Given the description of an element on the screen output the (x, y) to click on. 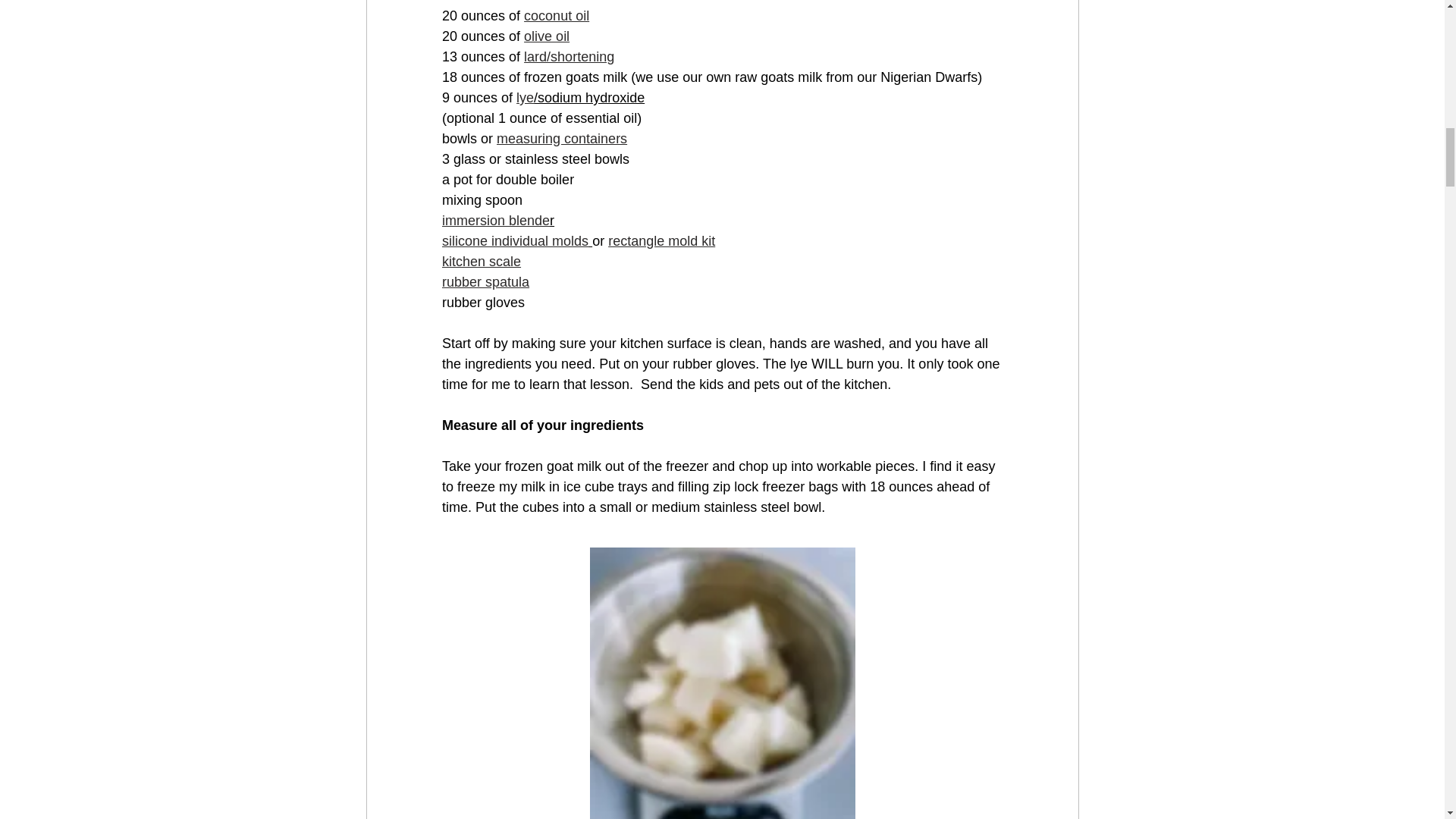
immersion blende (494, 220)
olive oil (546, 36)
rectangle mold kit (661, 240)
measuring containers (561, 138)
lye (525, 97)
coconut oil (556, 15)
kitchen scale (480, 261)
silicone individual molds (514, 240)
rubber spatula (484, 281)
